Given the description of an element on the screen output the (x, y) to click on. 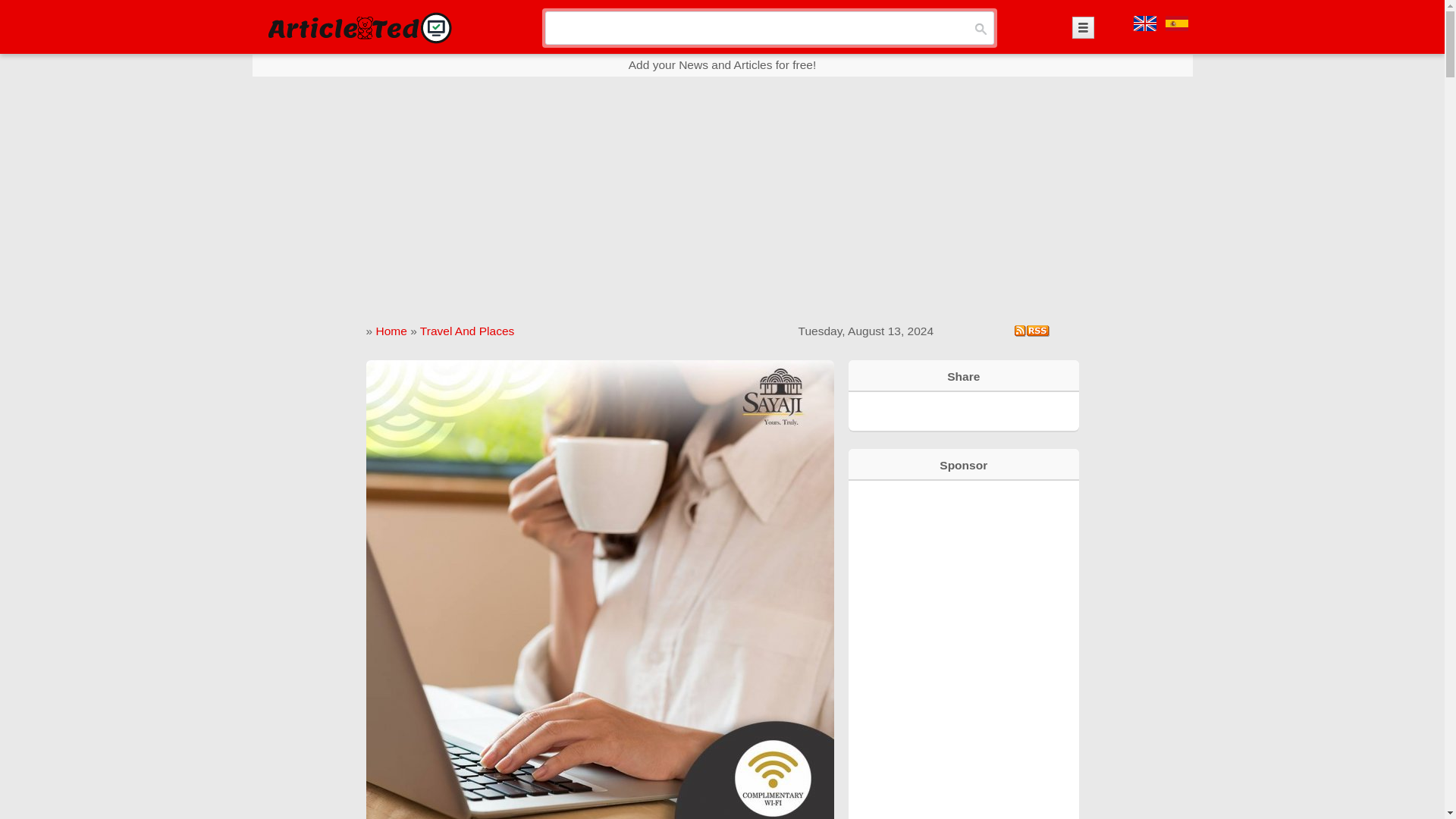
ArticleTed -  News and Articles (357, 27)
Home (390, 330)
Travel And Places (466, 330)
